Given the description of an element on the screen output the (x, y) to click on. 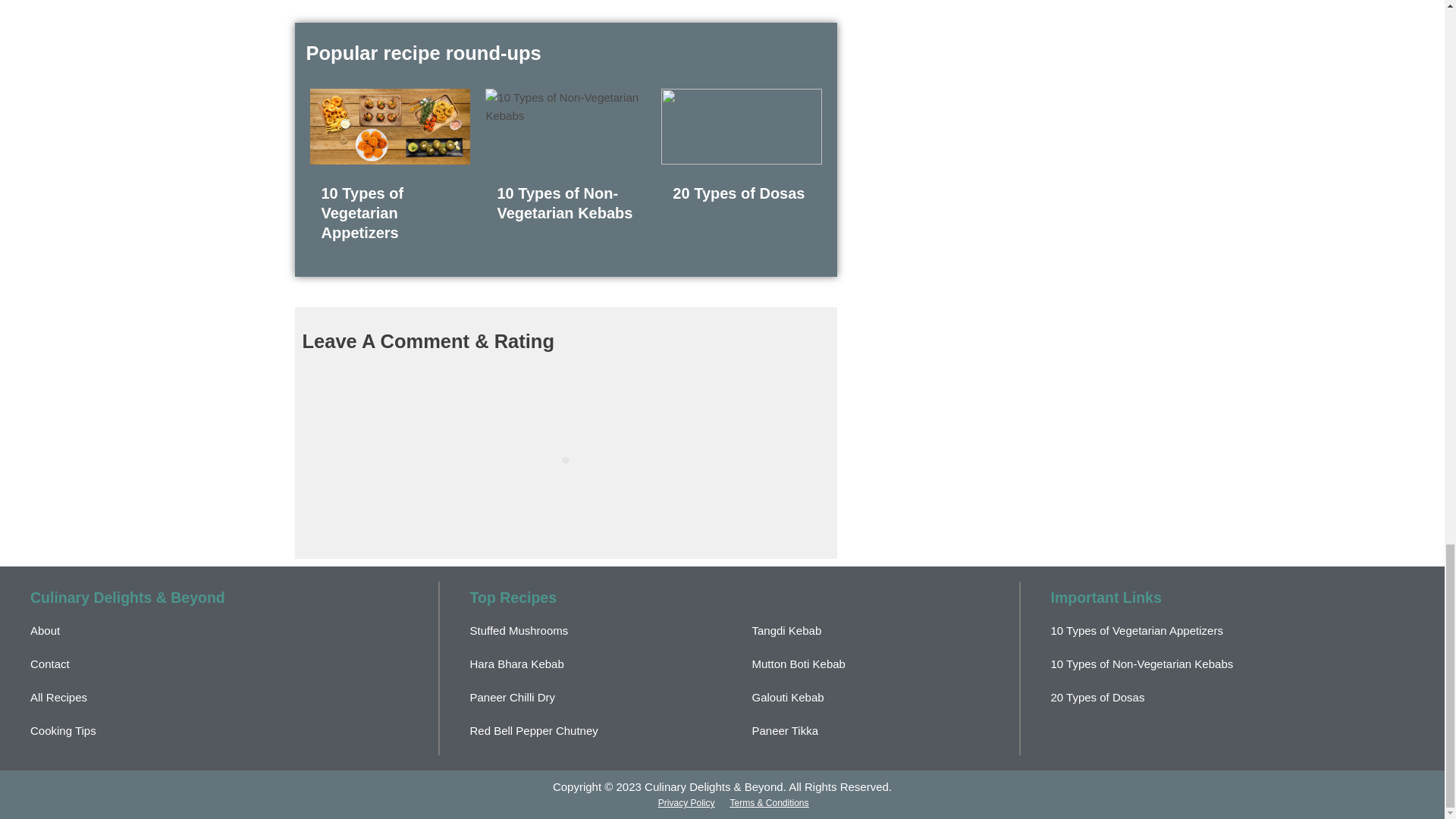
10 Types of Non-Vegetarian Kebabs (563, 203)
Mutton Boti Kebab (798, 663)
Paneer Chilli Dry (513, 697)
Contact (49, 663)
Hara Bhara Kebab (517, 663)
Tangdi Kebab (787, 630)
Paneer Tikka (785, 730)
Cooking Tips (63, 730)
Red Bell Pepper Chutney (534, 730)
10 Types of Vegetarian Appetizers (362, 212)
